Given the description of an element on the screen output the (x, y) to click on. 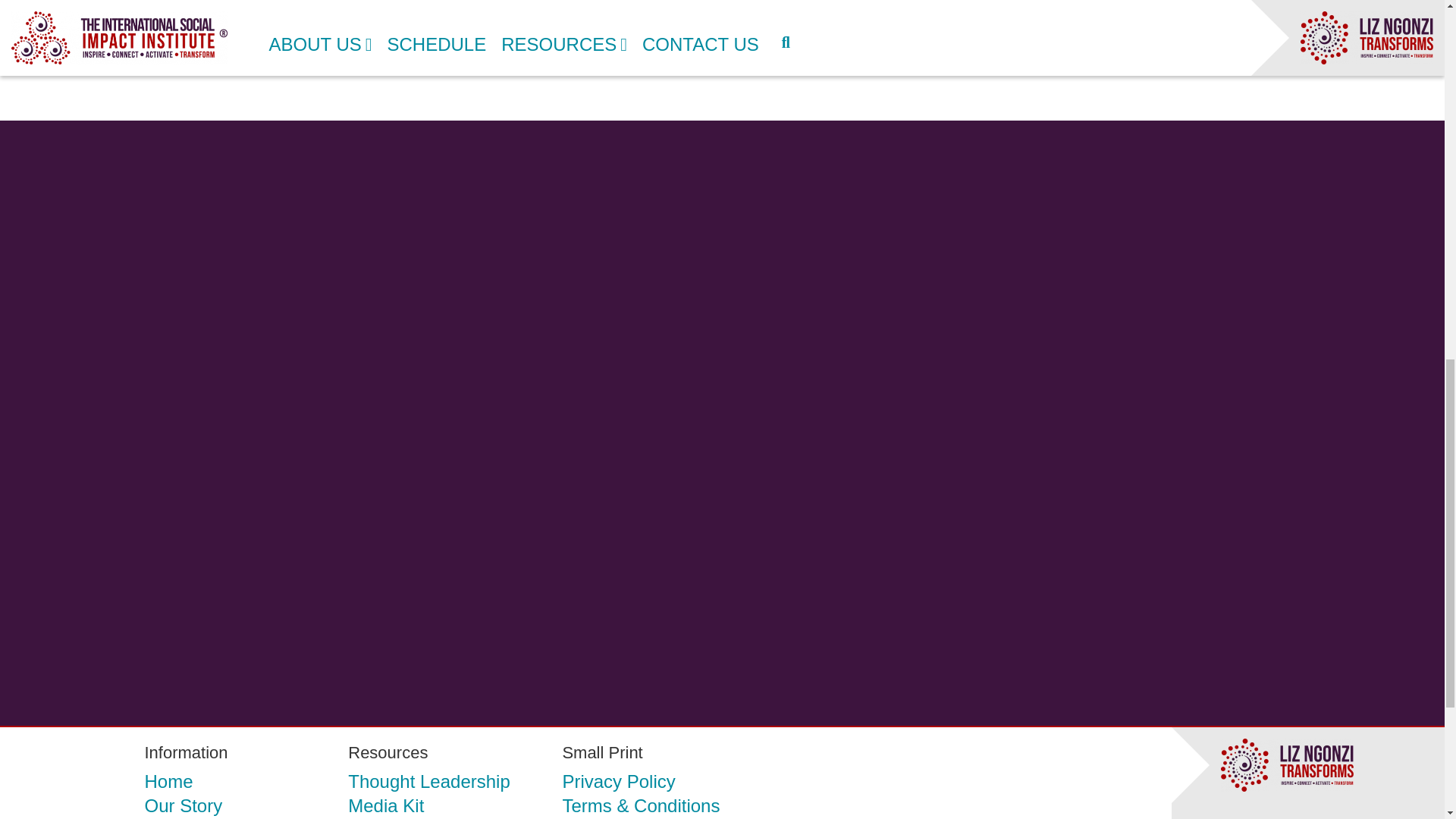
Our Story (183, 806)
Privacy Policy (618, 782)
Thought Leadership (429, 782)
Media Kit (385, 806)
Home (168, 782)
